Given the description of an element on the screen output the (x, y) to click on. 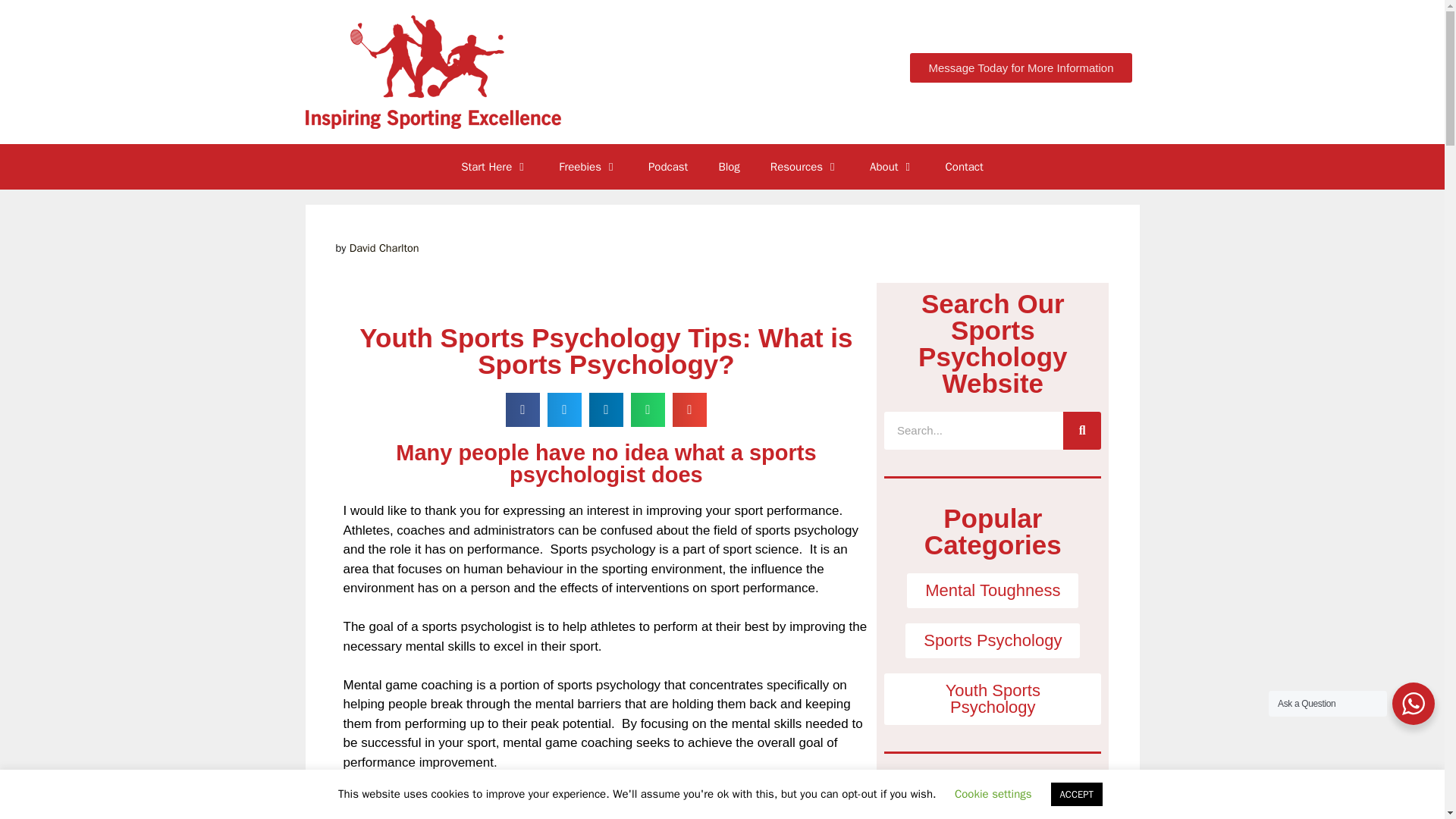
Message Today for More Information (1020, 67)
Start Here (494, 166)
Podcast (668, 166)
Contact (964, 166)
About (892, 166)
Blog (728, 166)
Resources (804, 166)
View all posts by David Charlton (384, 247)
Freebies (588, 166)
